Given the description of an element on the screen output the (x, y) to click on. 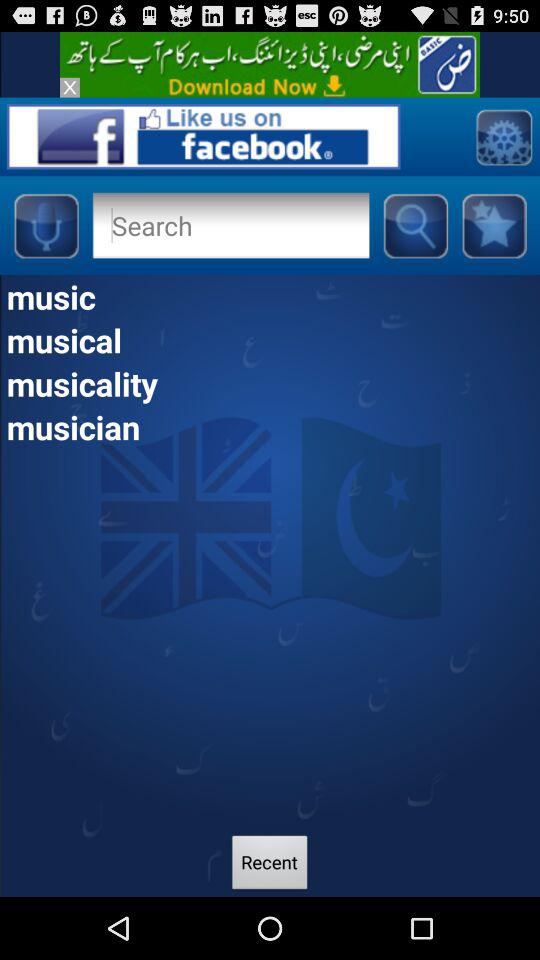
select audio (45, 225)
